Given the description of an element on the screen output the (x, y) to click on. 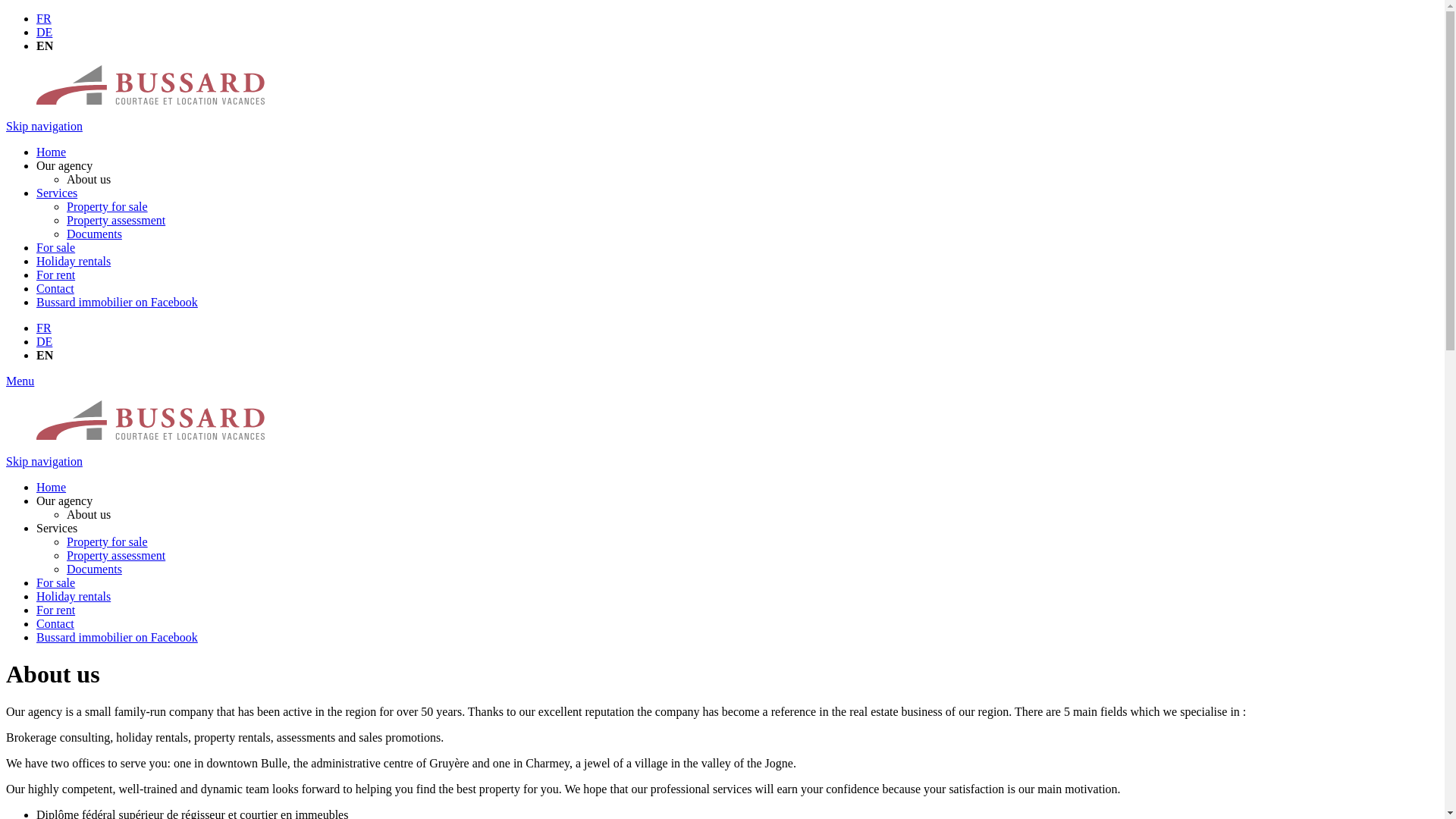
DE Element type: text (44, 341)
Services Element type: text (56, 192)
FR Element type: text (43, 18)
For rent Element type: text (55, 609)
Contact Element type: text (55, 623)
Property assessment Element type: text (115, 555)
Property for sale Element type: text (106, 206)
Home Element type: text (50, 486)
Skip navigation Element type: text (44, 125)
Bussard immobilier on Facebook Element type: text (116, 636)
Skip navigation Element type: text (44, 461)
FR Element type: text (43, 327)
For sale Element type: text (55, 582)
Contact Element type: text (55, 288)
Bussard immobilier on Facebook Element type: text (116, 301)
Menu Element type: text (20, 380)
Holiday rentals Element type: text (73, 595)
For rent Element type: text (55, 274)
Property for sale Element type: text (106, 541)
Property assessment Element type: text (115, 219)
DE Element type: text (44, 31)
Documents Element type: text (94, 233)
Holiday rentals Element type: text (73, 260)
Home Element type: text (50, 151)
For sale Element type: text (55, 247)
Documents Element type: text (94, 568)
